Given the description of an element on the screen output the (x, y) to click on. 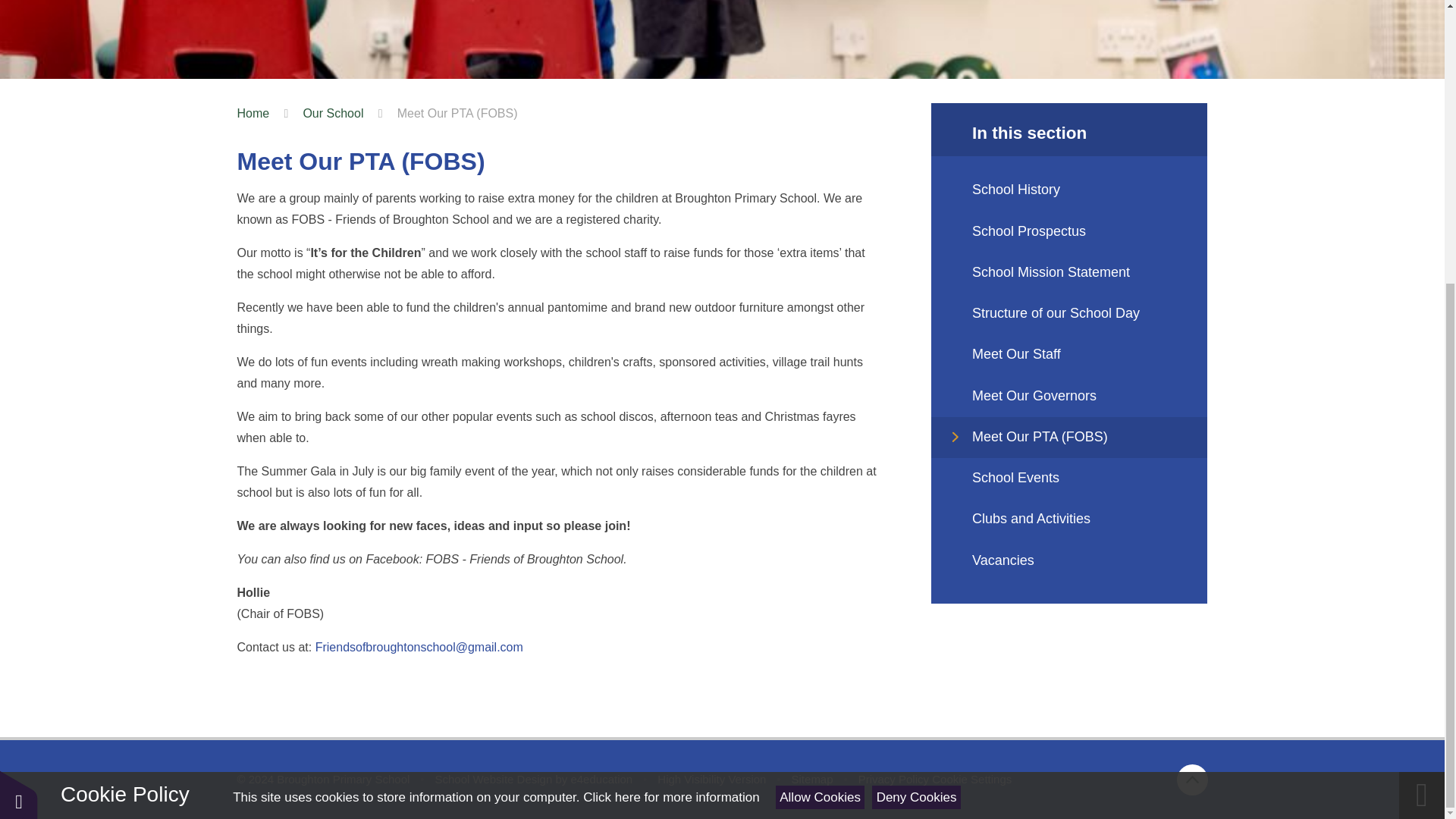
See cookie policy (670, 372)
Deny Cookies (915, 372)
Allow Cookies (820, 372)
Cookie Settings (971, 779)
